Given the description of an element on the screen output the (x, y) to click on. 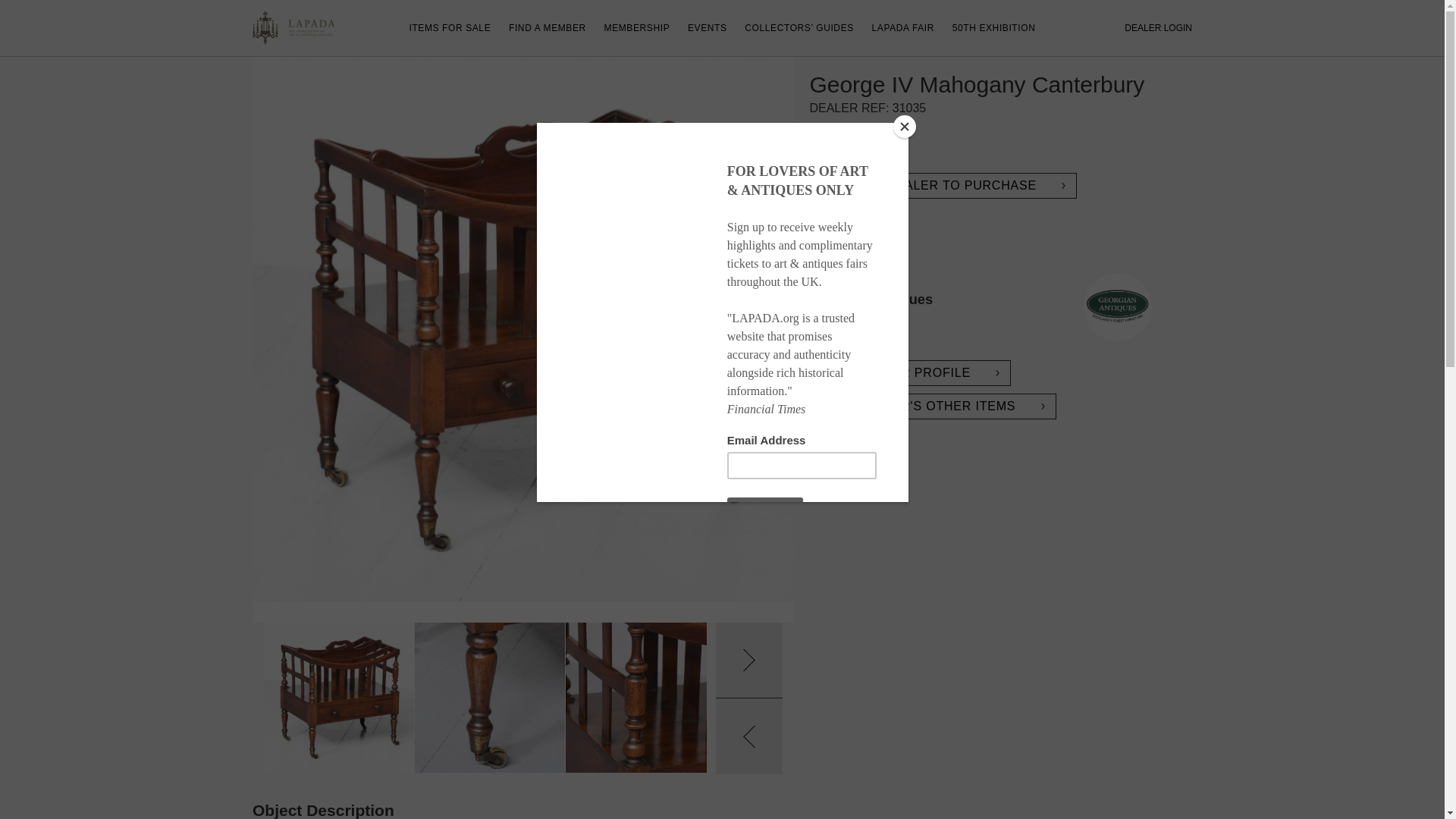
50TH EXHIBITION (993, 27)
FIND A MEMBER (547, 27)
DEALER LOGIN (523, 697)
MEMBERSHIP (1158, 27)
LAPADA FAIR (636, 27)
ITEMS FOR SALE (903, 27)
EVENTS (450, 27)
